Given the description of an element on the screen output the (x, y) to click on. 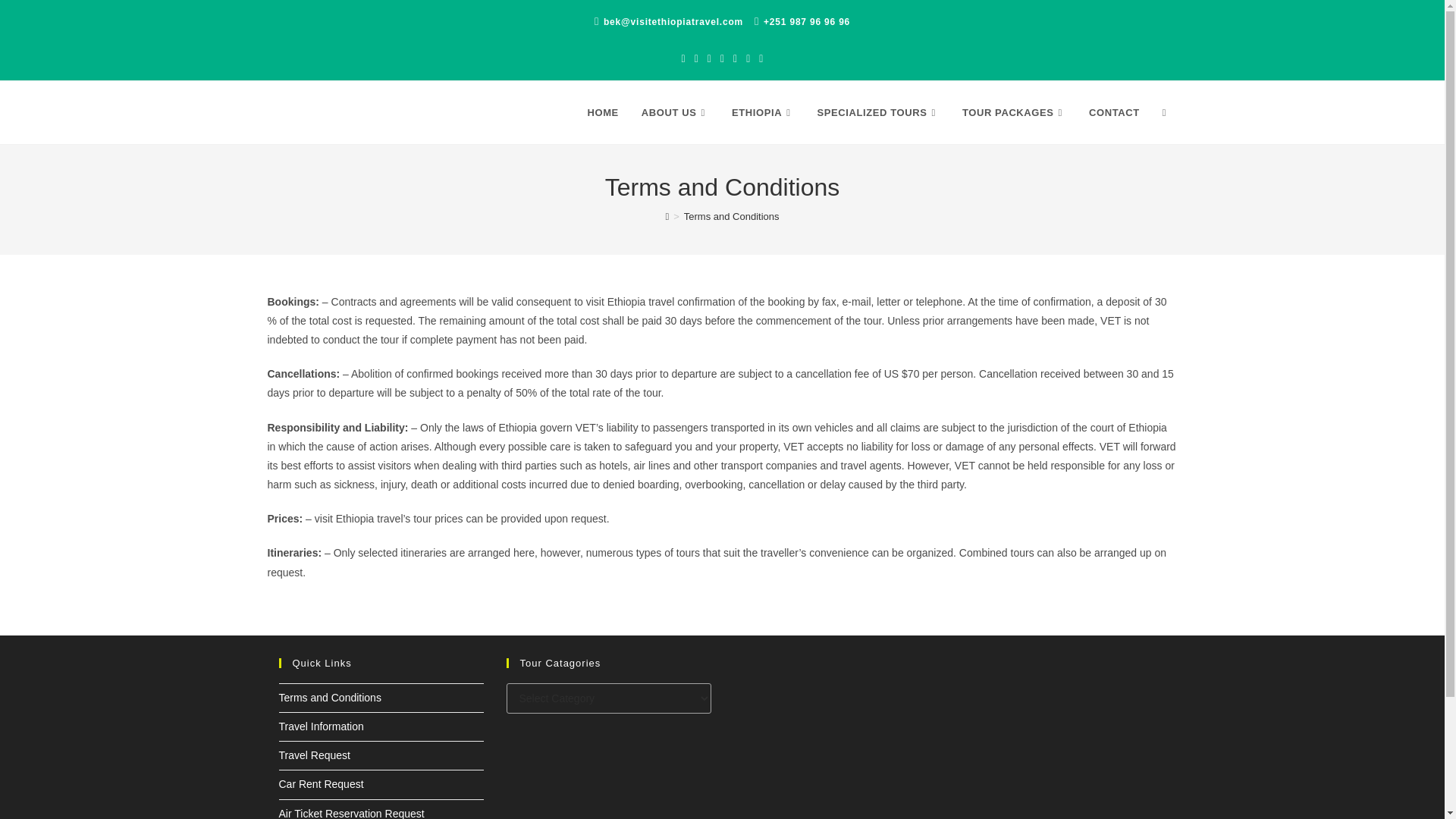
SPECIALIZED TOURS (877, 112)
HOME (601, 112)
ABOUT US (675, 112)
ETHIOPIA (763, 112)
TOUR PACKAGES (1013, 112)
